Given the description of an element on the screen output the (x, y) to click on. 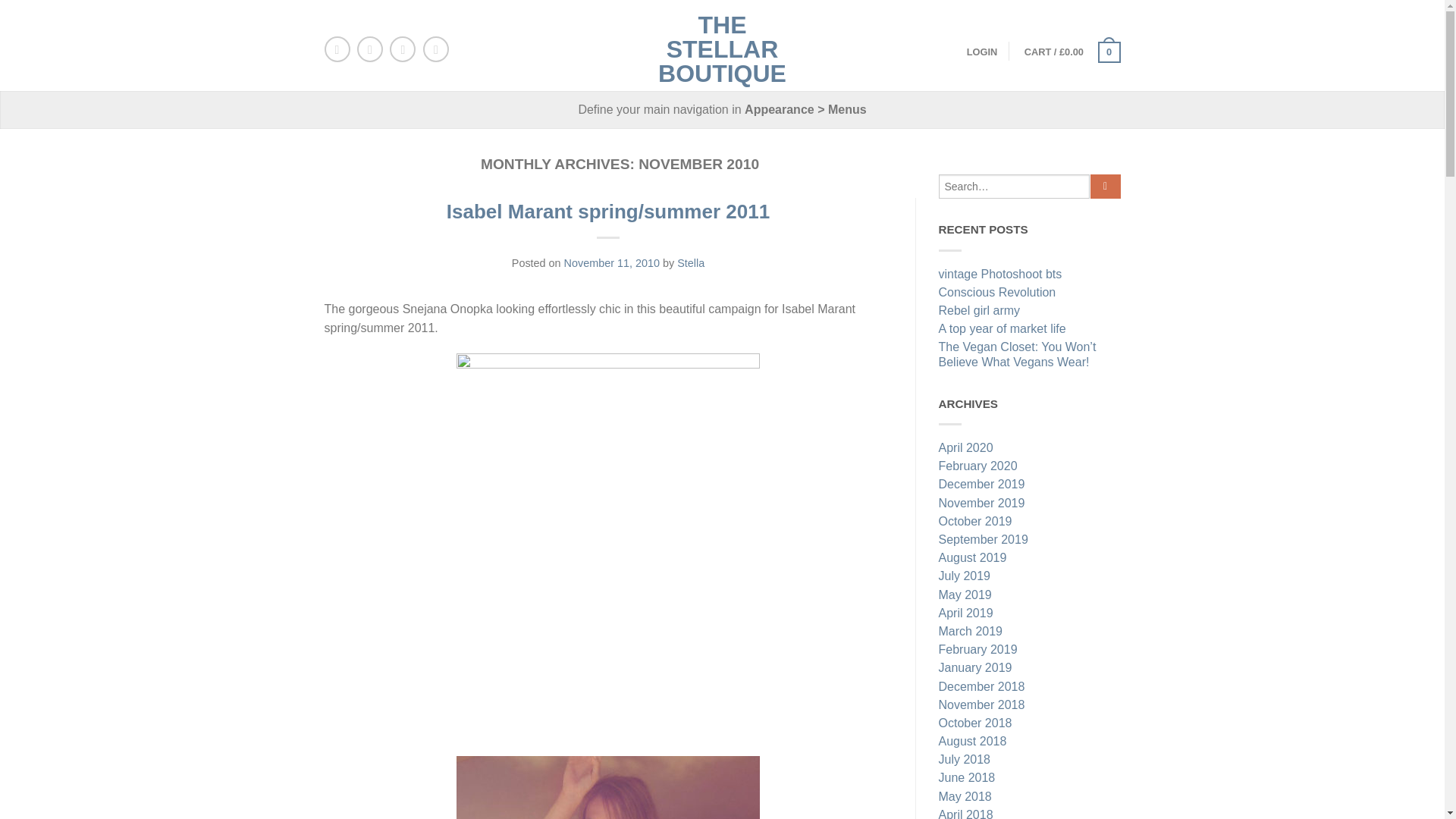
Conscious Revolution (1030, 294)
Stella (690, 263)
vintage Photoshoot bts (1030, 275)
November 11, 2010 (611, 263)
fashion (608, 787)
LOGIN (981, 51)
THE STELLAR BOUTIQUE (722, 44)
